Given the description of an element on the screen output the (x, y) to click on. 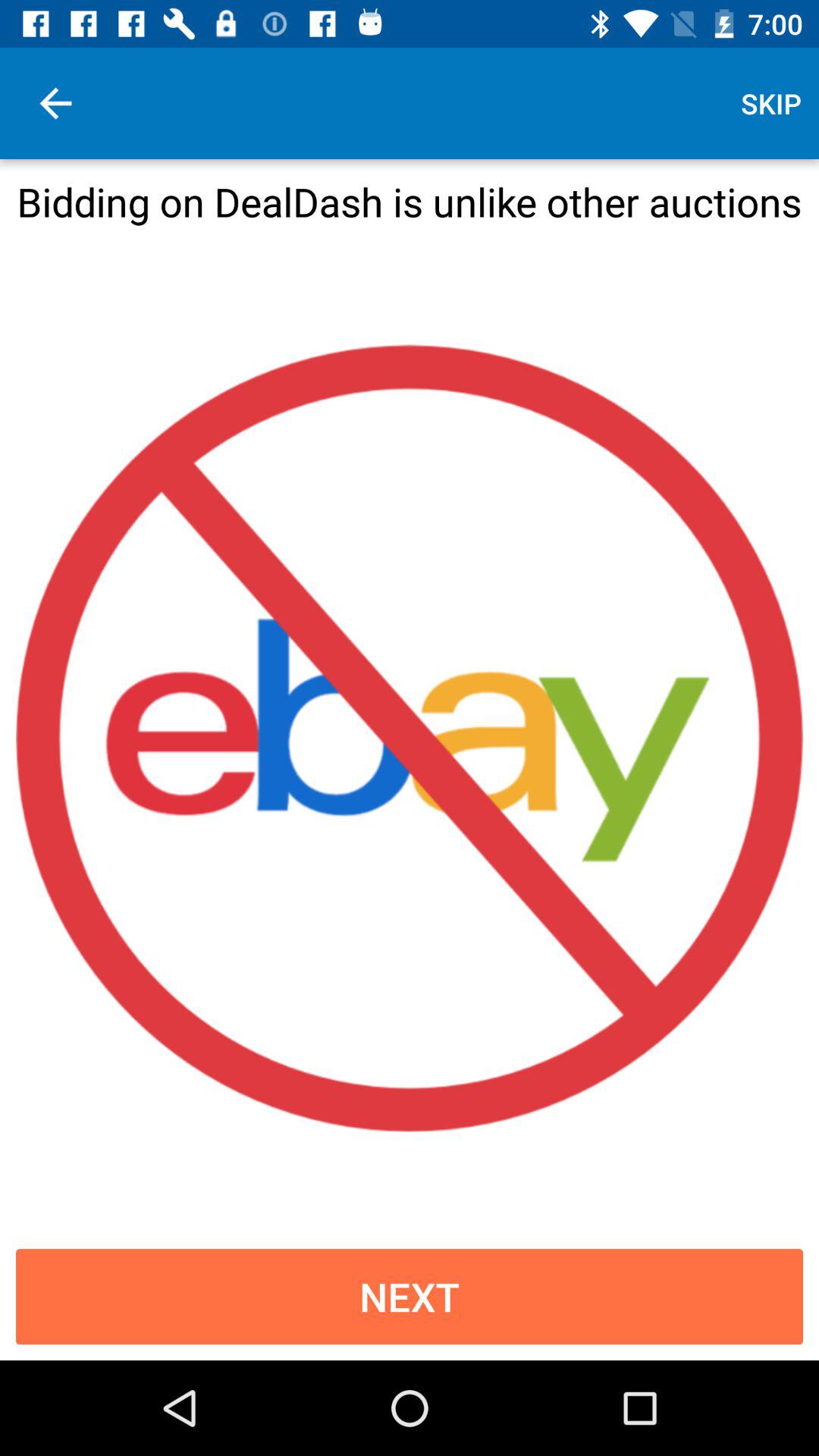
choose skip icon (771, 103)
